Given the description of an element on the screen output the (x, y) to click on. 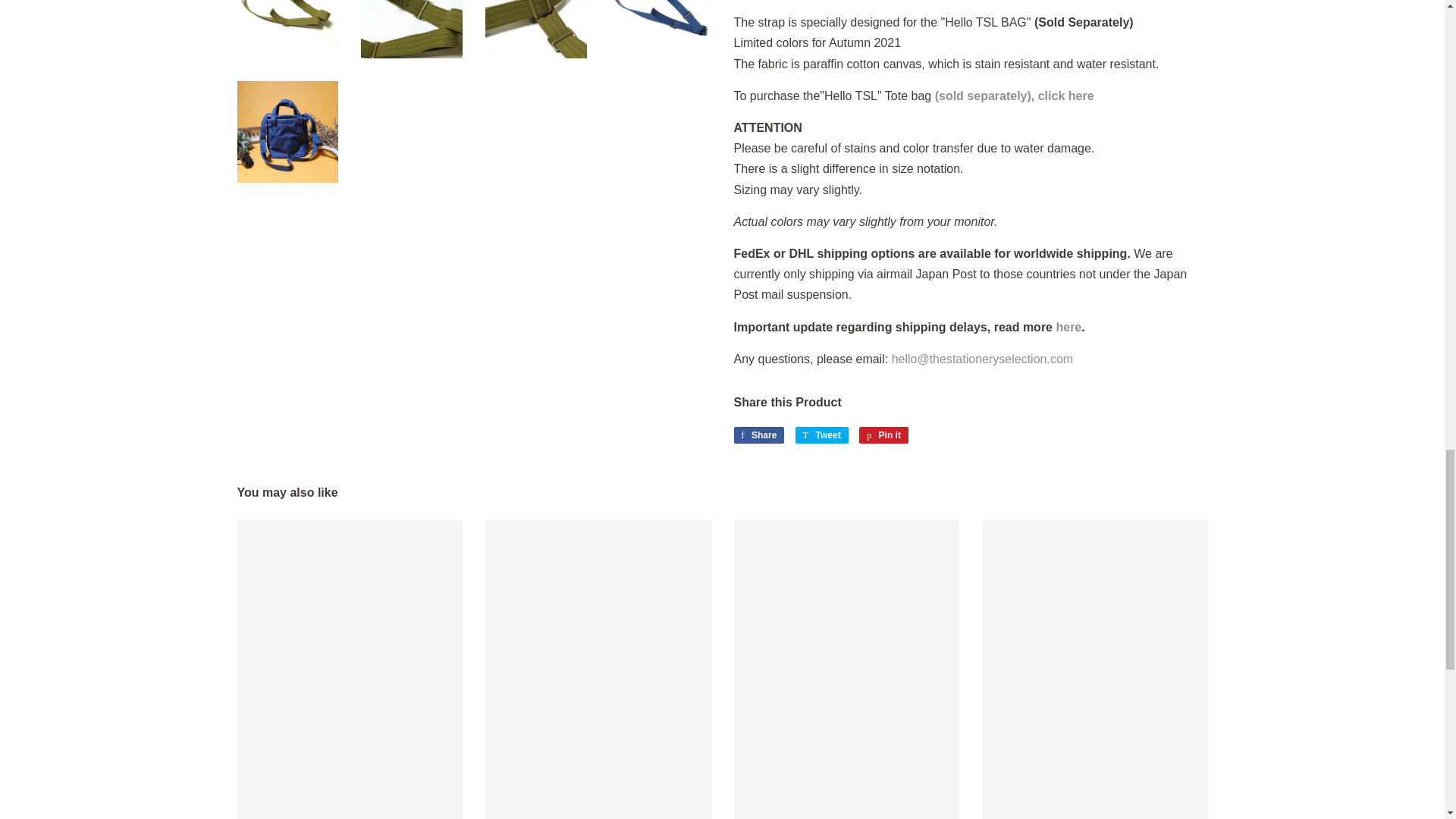
Share on Facebook (758, 434)
Tweet on Twitter (821, 434)
The superior labor limited edition hello TSL tote bag (1012, 95)
Pin on Pinterest (883, 434)
